Given the description of an element on the screen output the (x, y) to click on. 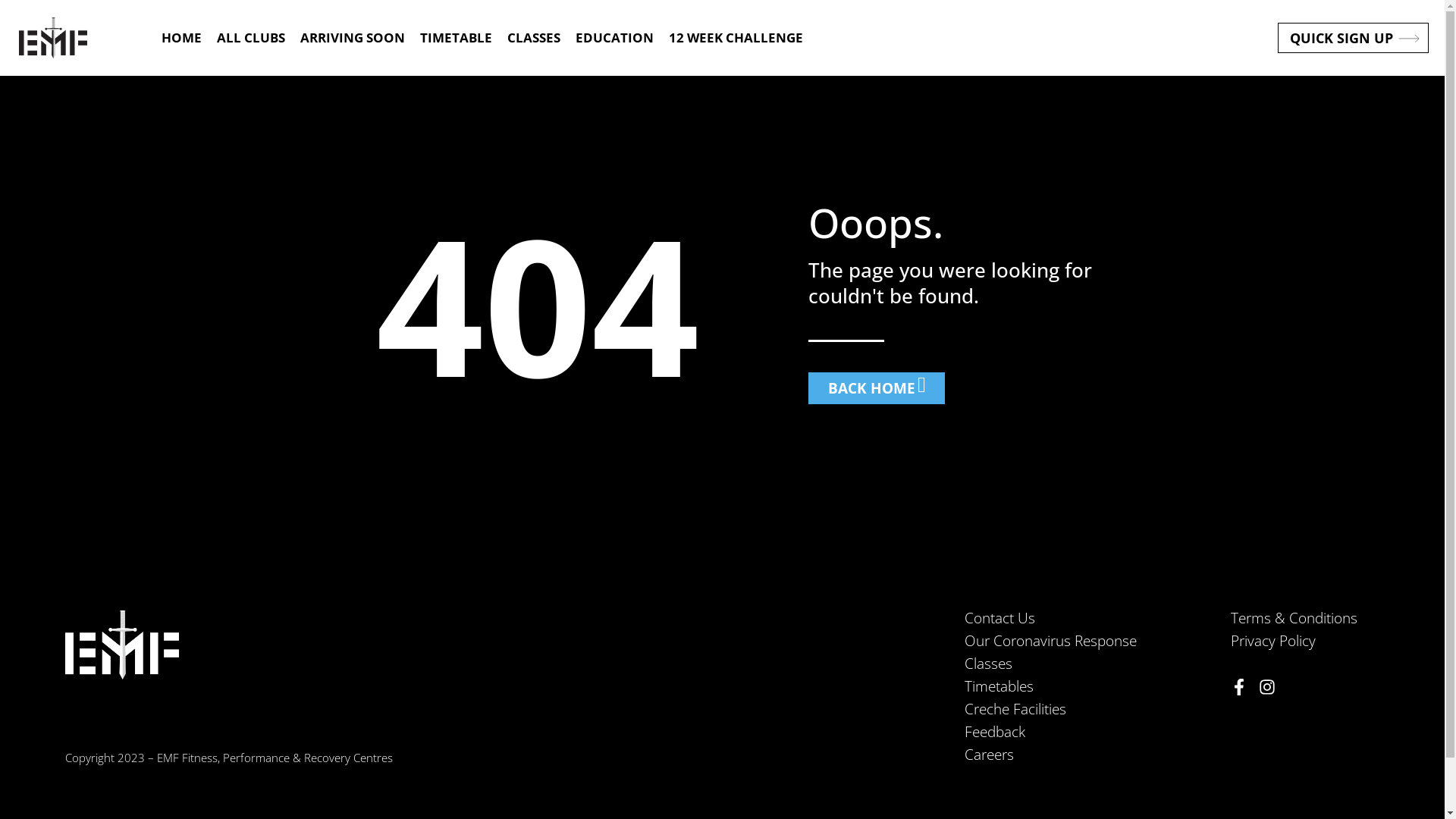
Careers Element type: text (1089, 754)
Classes Element type: text (1089, 663)
BACK HOME Element type: text (876, 388)
Creche Facilities Element type: text (1089, 708)
EDUCATION Element type: text (613, 37)
12 WEEK CHALLENGE Element type: text (735, 37)
QUICK SIGN UP Element type: text (1352, 37)
Privacy Policy Element type: text (1302, 640)
Contact Us Element type: text (1089, 617)
ALL CLUBS Element type: text (250, 37)
Timetables Element type: text (1089, 685)
Our Coronavirus Response Element type: text (1089, 640)
ARRIVING SOON Element type: text (352, 37)
Terms & Conditions Element type: text (1302, 617)
Feedback Element type: text (1089, 731)
CLASSES Element type: text (532, 37)
HOME Element type: text (180, 37)
TIMETABLE Element type: text (456, 37)
